Given the description of an element on the screen output the (x, y) to click on. 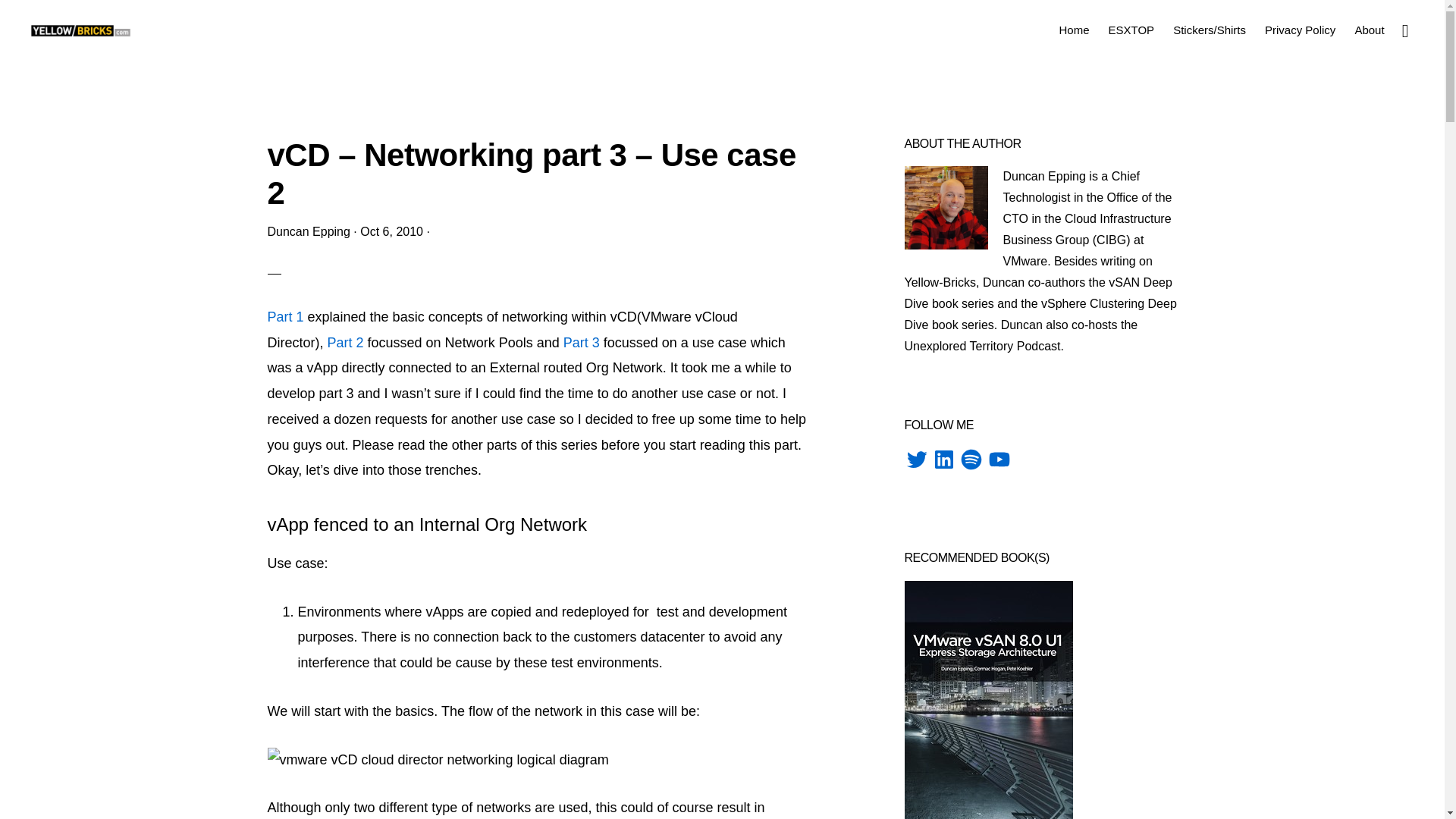
Part 3 (581, 342)
YELLOW BRICKS (80, 30)
ESXTOP (1130, 29)
Part 2 (345, 342)
Spotify (971, 459)
YouTube (999, 459)
LinkedIn (943, 459)
About (1368, 29)
Twitter (916, 459)
Duncan Epping (307, 231)
Show Search (1404, 29)
Part 1 (284, 316)
Privacy Policy (1299, 29)
Home (1073, 29)
